Given the description of an element on the screen output the (x, y) to click on. 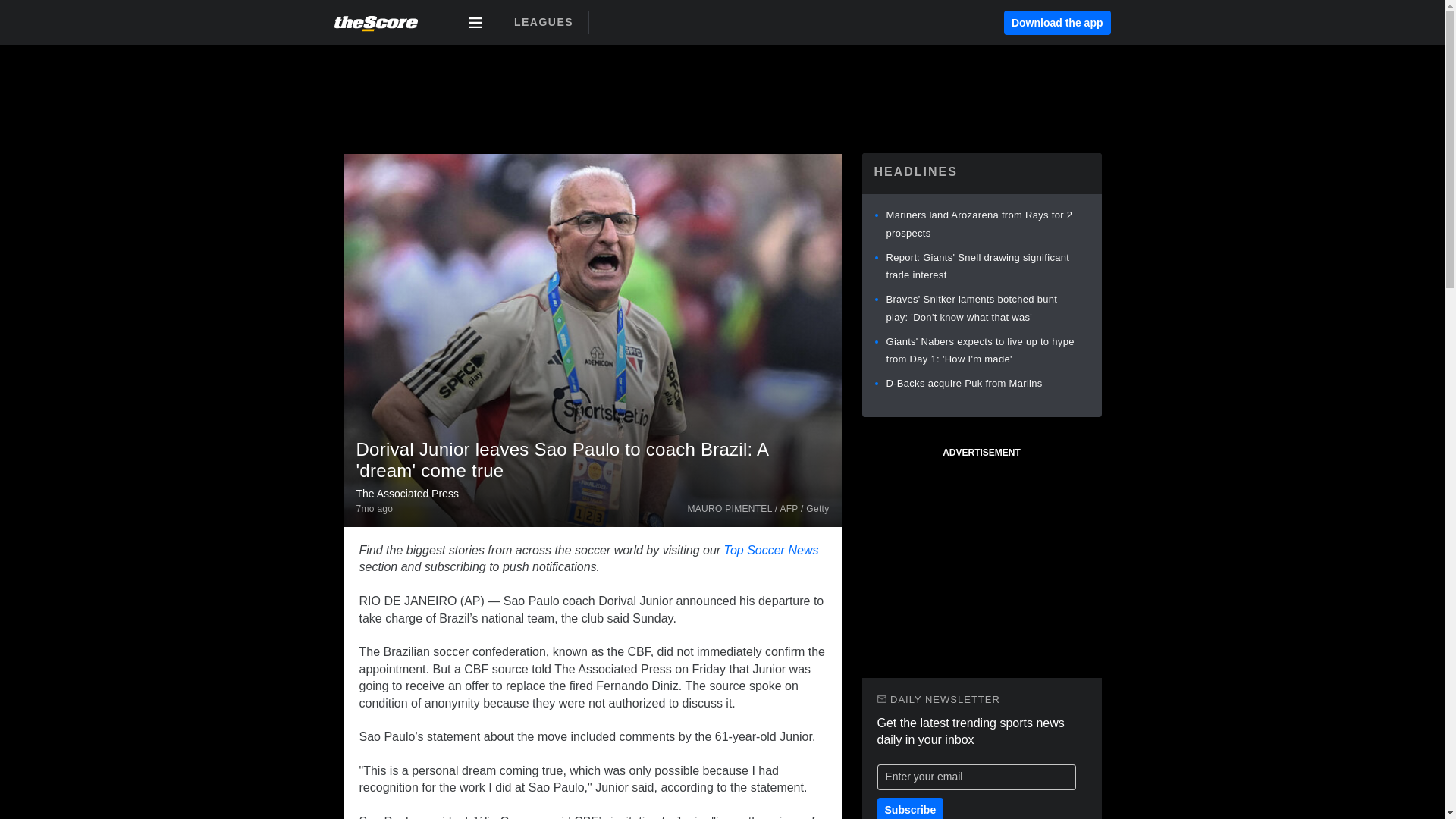
Top Soccer News (770, 549)
2024-01-07T22:15:26.000Z (374, 509)
Mariners land Arozarena from Rays for 2 prospects (978, 224)
The Associated Press (407, 493)
Subscribe (909, 808)
Download the app (1057, 22)
Report: Giants' Snell drawing significant trade interest (976, 266)
LEAGUES (543, 22)
D-Backs acquire Puk from Marlins (963, 383)
